Given the description of an element on the screen output the (x, y) to click on. 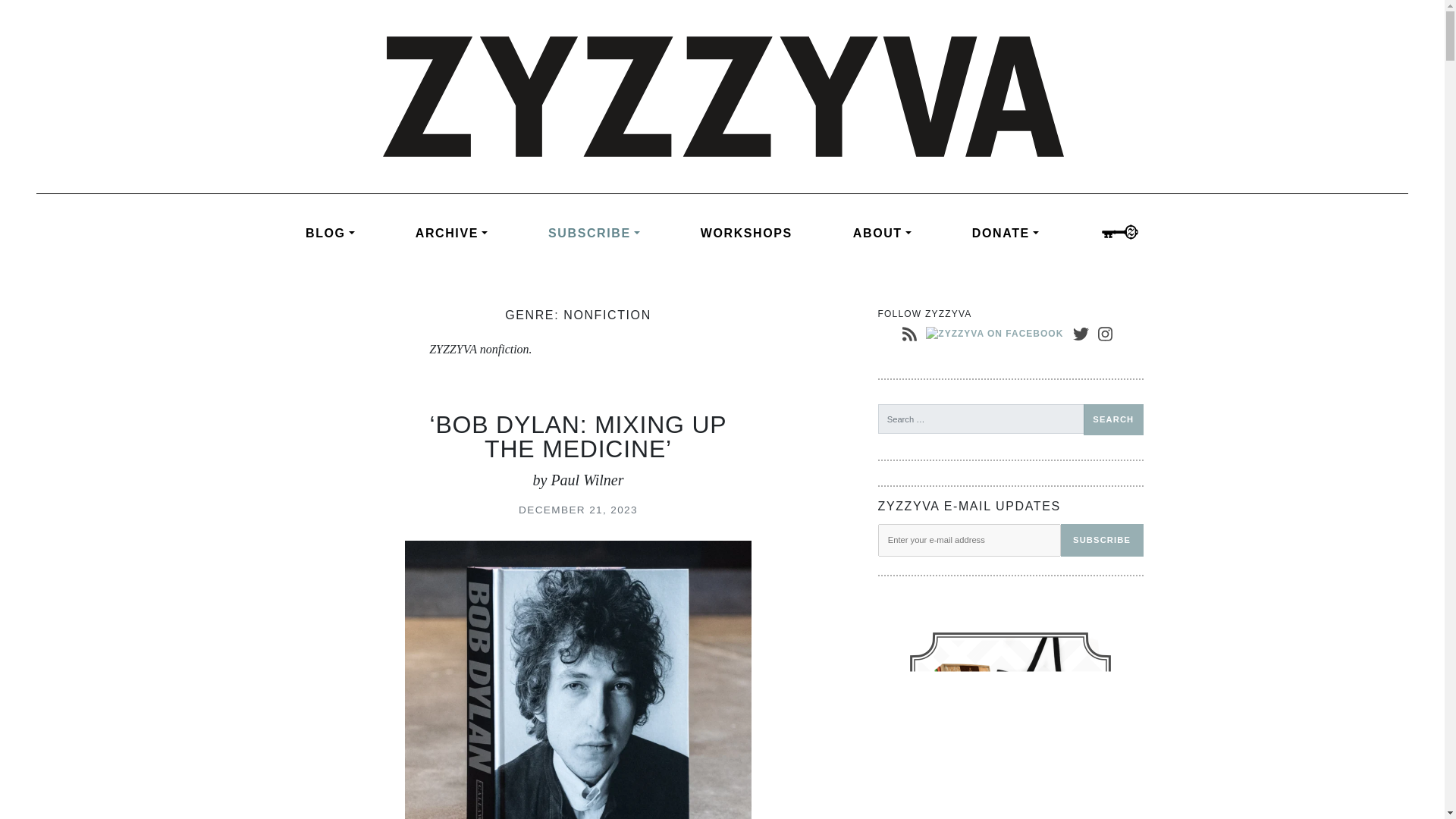
ABOUT (882, 233)
DONATE (1005, 233)
Subscribe (1101, 540)
ZYZZYVA (721, 95)
SUBSCRIBE (593, 233)
Blog (345, 233)
ARCHIVE (451, 233)
Subscribe (593, 233)
Archive (451, 233)
BLOG (345, 233)
